Given the description of an element on the screen output the (x, y) to click on. 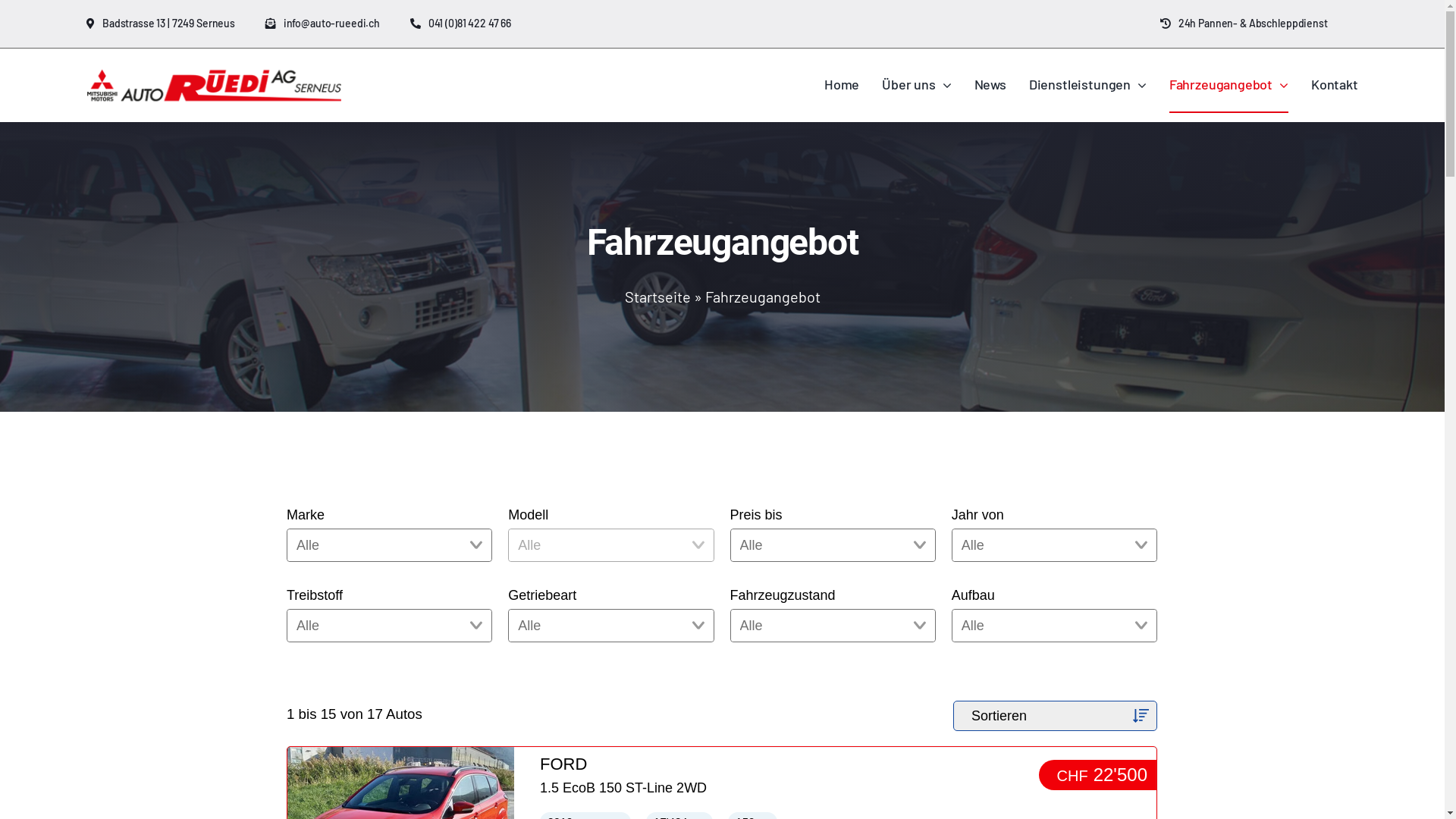
24h Pannen- & Abschleppdienst Element type: text (1259, 23)
Dienstleistungen Element type: text (1087, 85)
Badstrasse 13 | 7249 Serneus Element type: text (175, 23)
Fahrzeugangebot Element type: text (1228, 85)
Kontakt Element type: text (1334, 85)
info@auto-rueedi.ch Element type: text (337, 23)
Startseite Element type: text (657, 296)
News Element type: text (990, 85)
Home Element type: text (841, 85)
041 (0)81 422 47 66 Element type: text (475, 23)
